Given the description of an element on the screen output the (x, y) to click on. 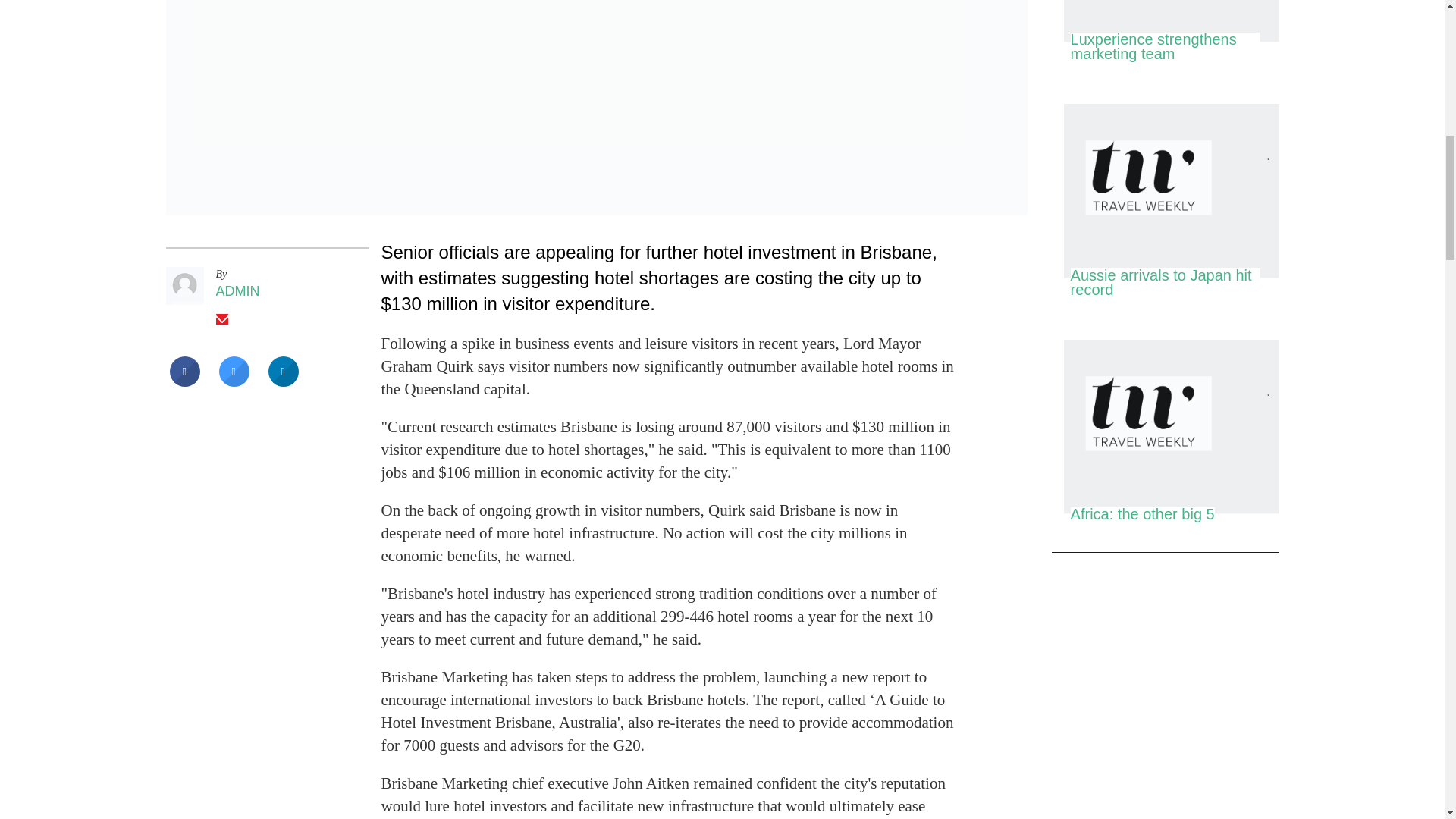
Share to LinkedIn (282, 382)
Share on Facebook (185, 382)
Share on Twitter (233, 382)
